Given the description of an element on the screen output the (x, y) to click on. 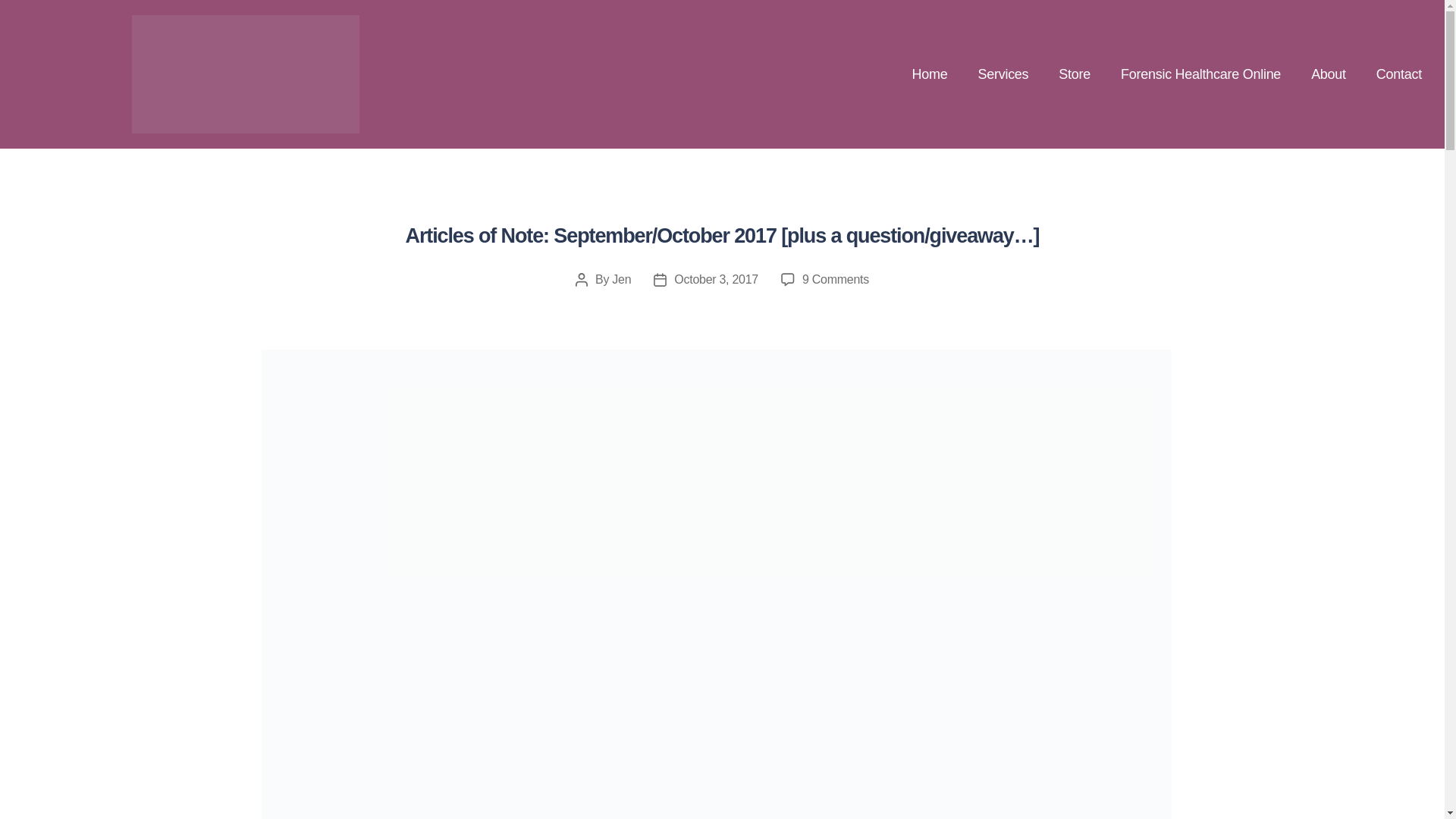
Contact (1399, 73)
Store (1074, 73)
Home (929, 73)
9 Comments (835, 278)
Jen (620, 278)
Forensic Healthcare Online (1200, 73)
October 3, 2017 (716, 278)
Services (1002, 73)
About (1328, 73)
